Given the description of an element on the screen output the (x, y) to click on. 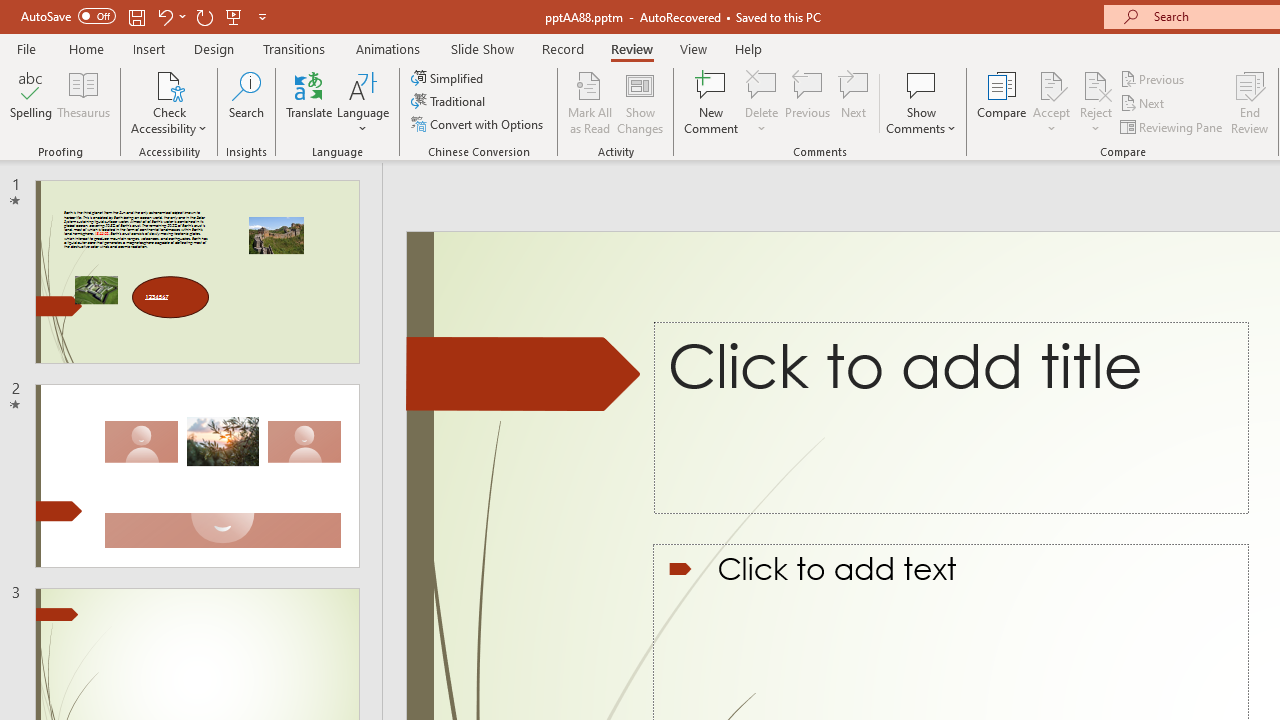
Check Accessibility (169, 84)
Convert with Options... (479, 124)
Accept (1051, 102)
Simplified (449, 78)
New Comment (711, 102)
End Review (1249, 102)
Show Comments (921, 84)
Next (1144, 103)
